Given the description of an element on the screen output the (x, y) to click on. 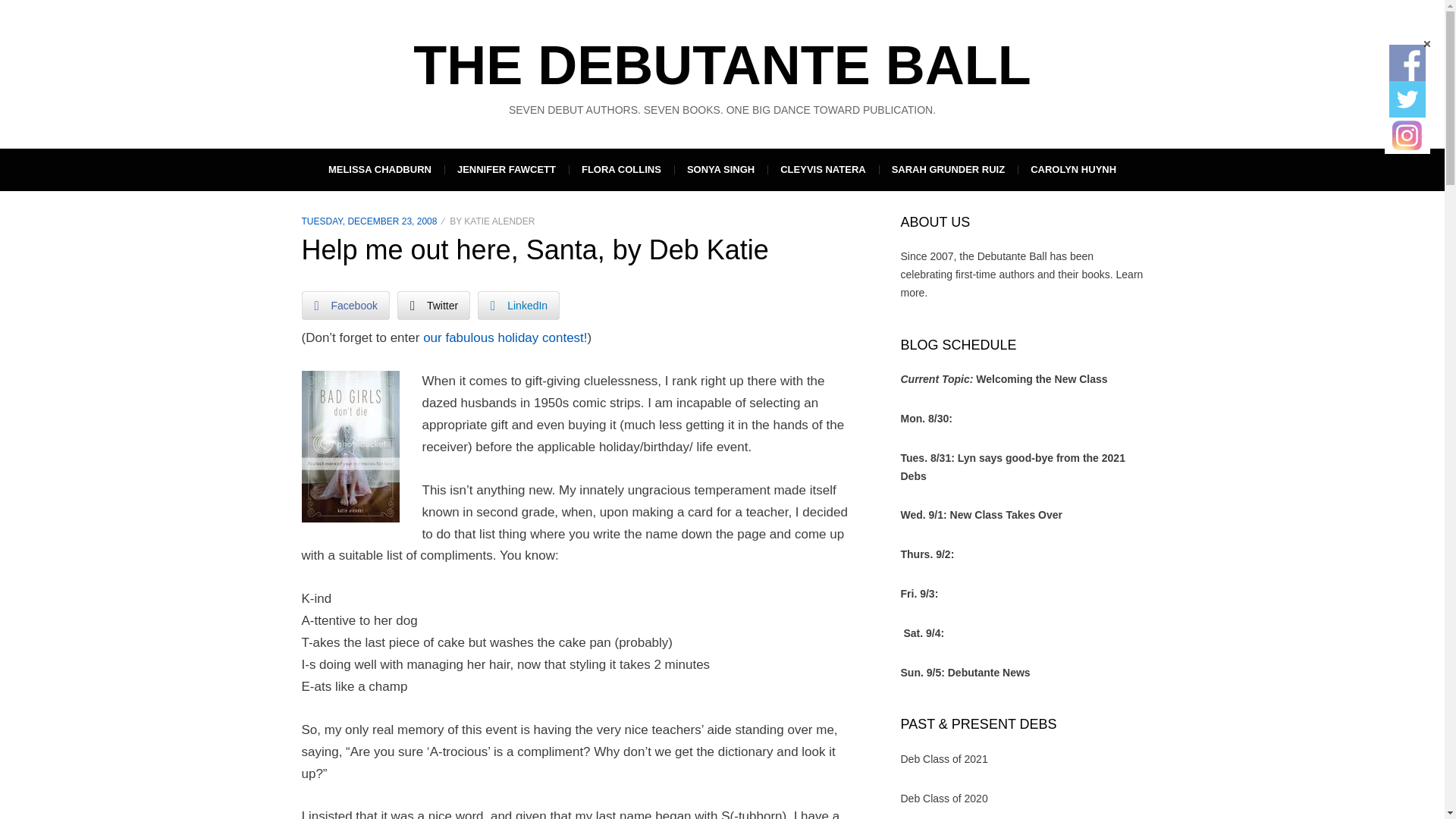
SONYA SINGH (720, 169)
JENNIFER FAWCETT (506, 169)
MELISSA CHADBURN (379, 169)
Twitter (433, 305)
Facebook (345, 305)
hide (1426, 43)
View Our Twitter Feed (1407, 99)
Visit Our Facebook Page (1407, 63)
TUESDAY, DECEMBER 23, 2008 (369, 221)
CAROLYN HUYNH (1073, 169)
KATIE ALENDER (499, 221)
SARAH GRUNDER RUIZ (948, 169)
Learn more. (1021, 283)
FLORA COLLINS (621, 169)
LinkedIn (518, 305)
